Given the description of an element on the screen output the (x, y) to click on. 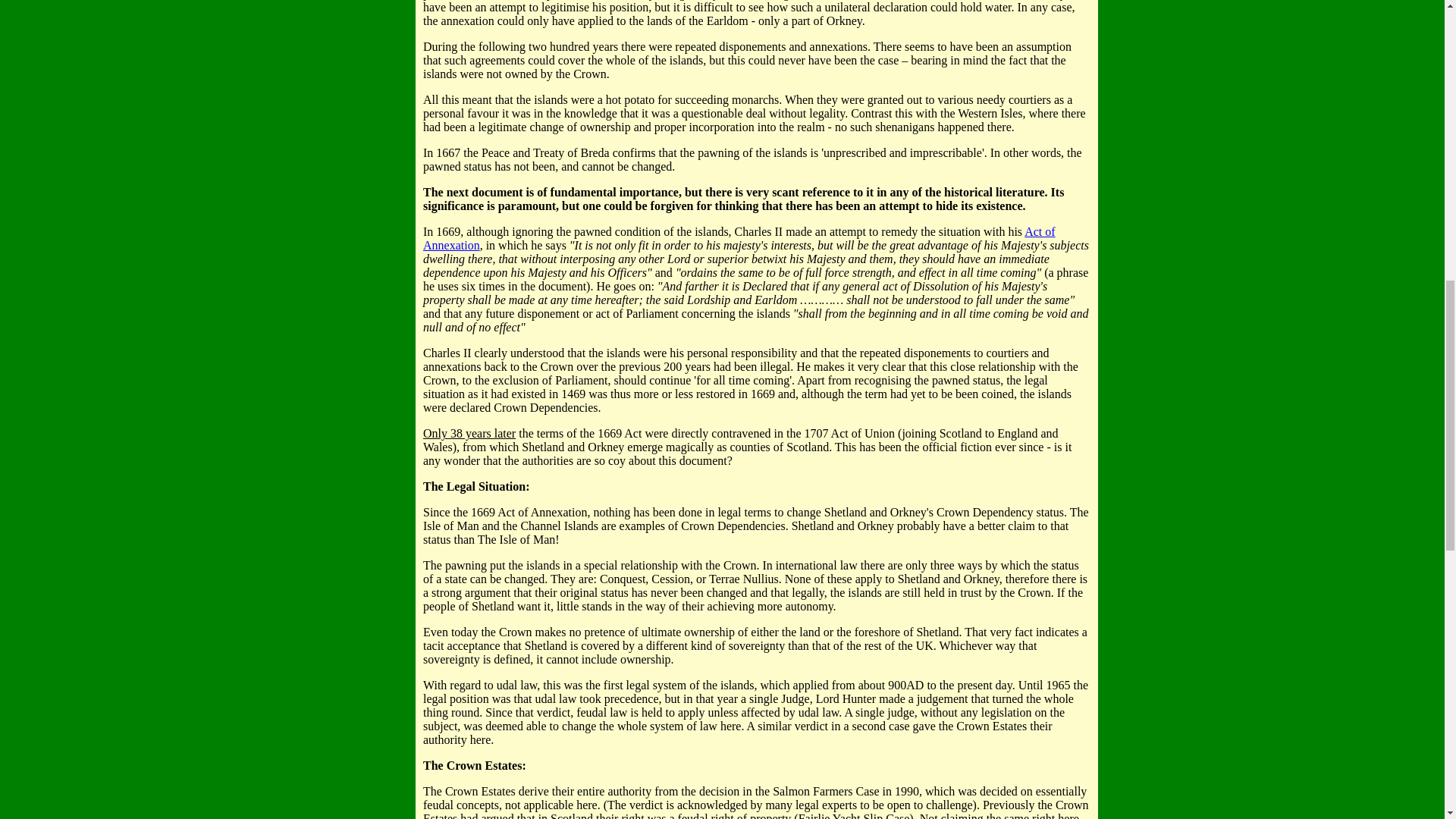
Act of Annexation (739, 238)
